Given the description of an element on the screen output the (x, y) to click on. 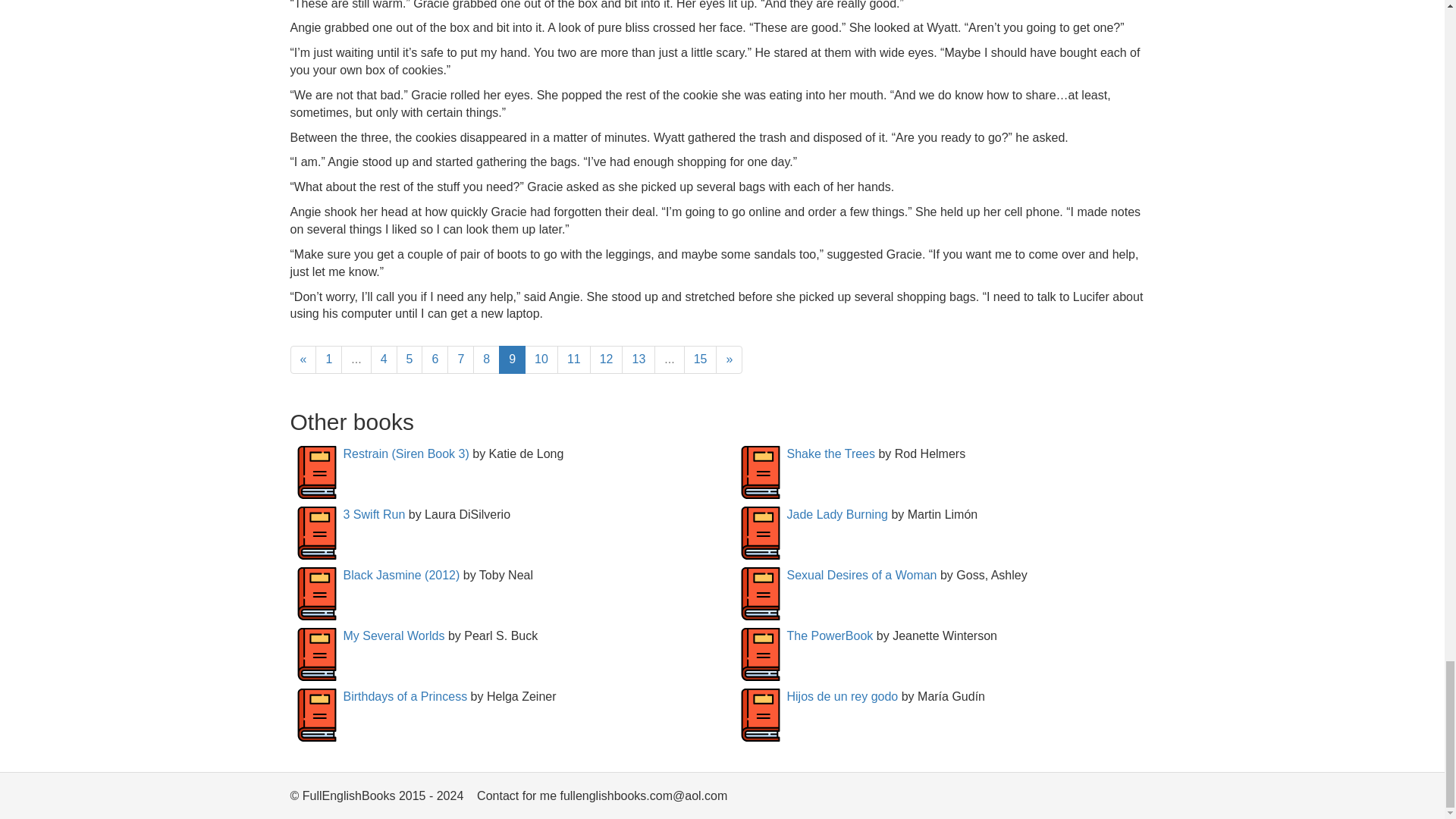
8 (486, 359)
11 (574, 359)
15 (700, 359)
Shake the Trees (831, 453)
5 (409, 359)
9 (512, 359)
7 (460, 359)
10 (540, 359)
LiveInternet (1142, 799)
13 (638, 359)
